Given the description of an element on the screen output the (x, y) to click on. 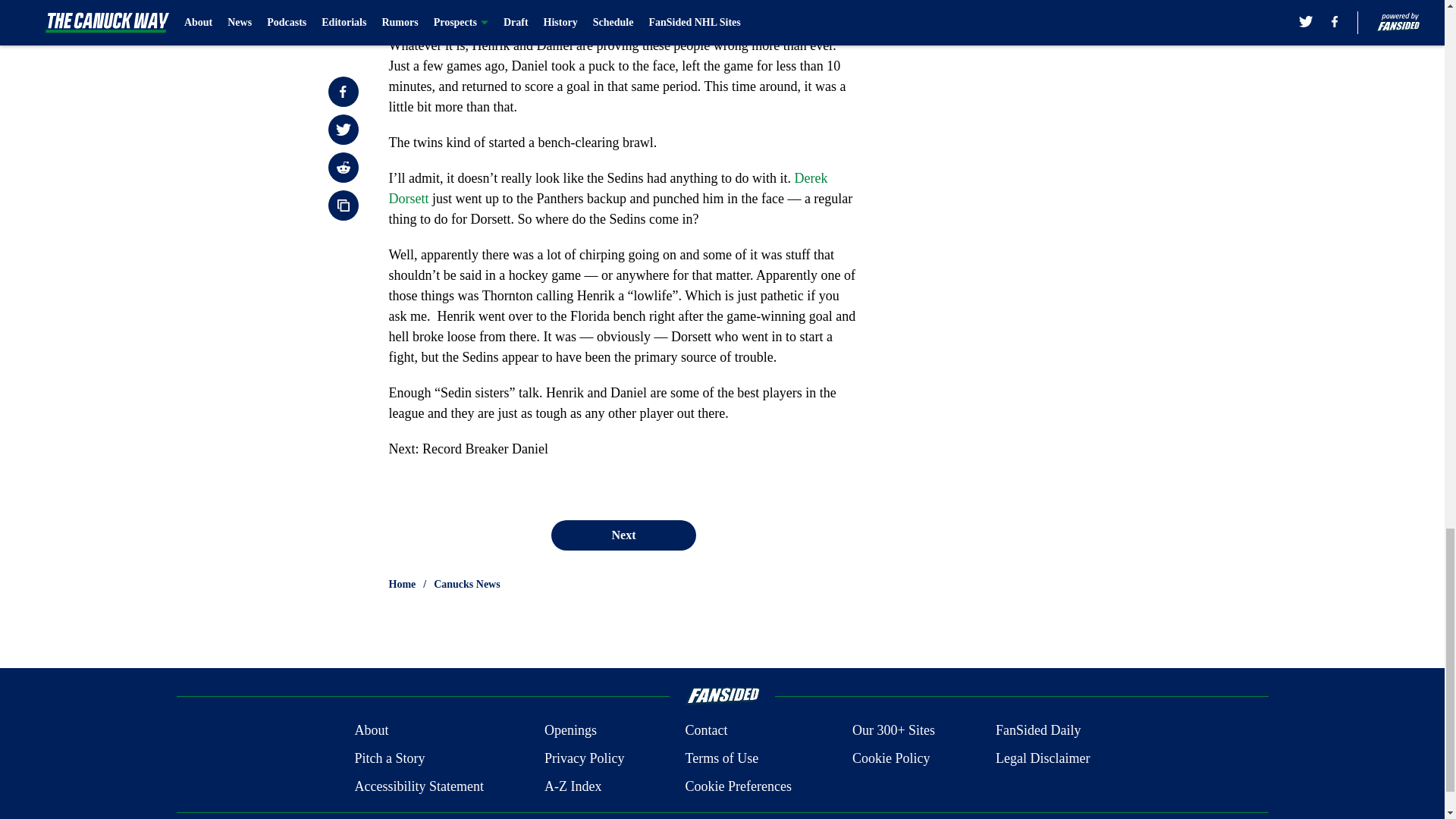
FanSided Daily (1038, 730)
About (370, 730)
Legal Disclaimer (1042, 758)
Terms of Use (721, 758)
Canucks News (466, 584)
Cookie Policy (890, 758)
Privacy Policy (584, 758)
Derek Dorsett (607, 188)
Openings (570, 730)
Contact (705, 730)
